Given the description of an element on the screen output the (x, y) to click on. 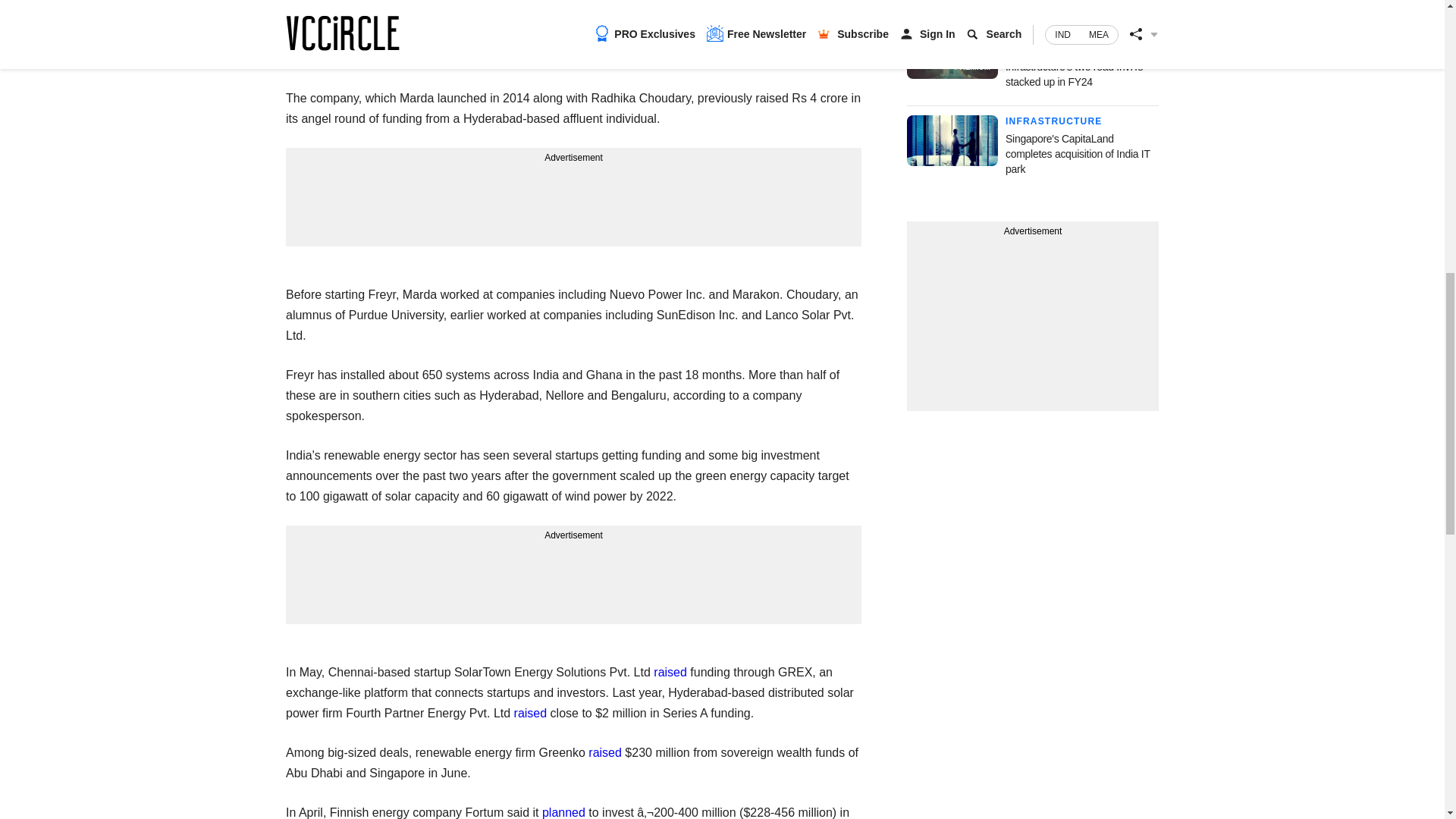
raised (670, 671)
raised (530, 712)
planned (563, 812)
raised (604, 752)
